Given the description of an element on the screen output the (x, y) to click on. 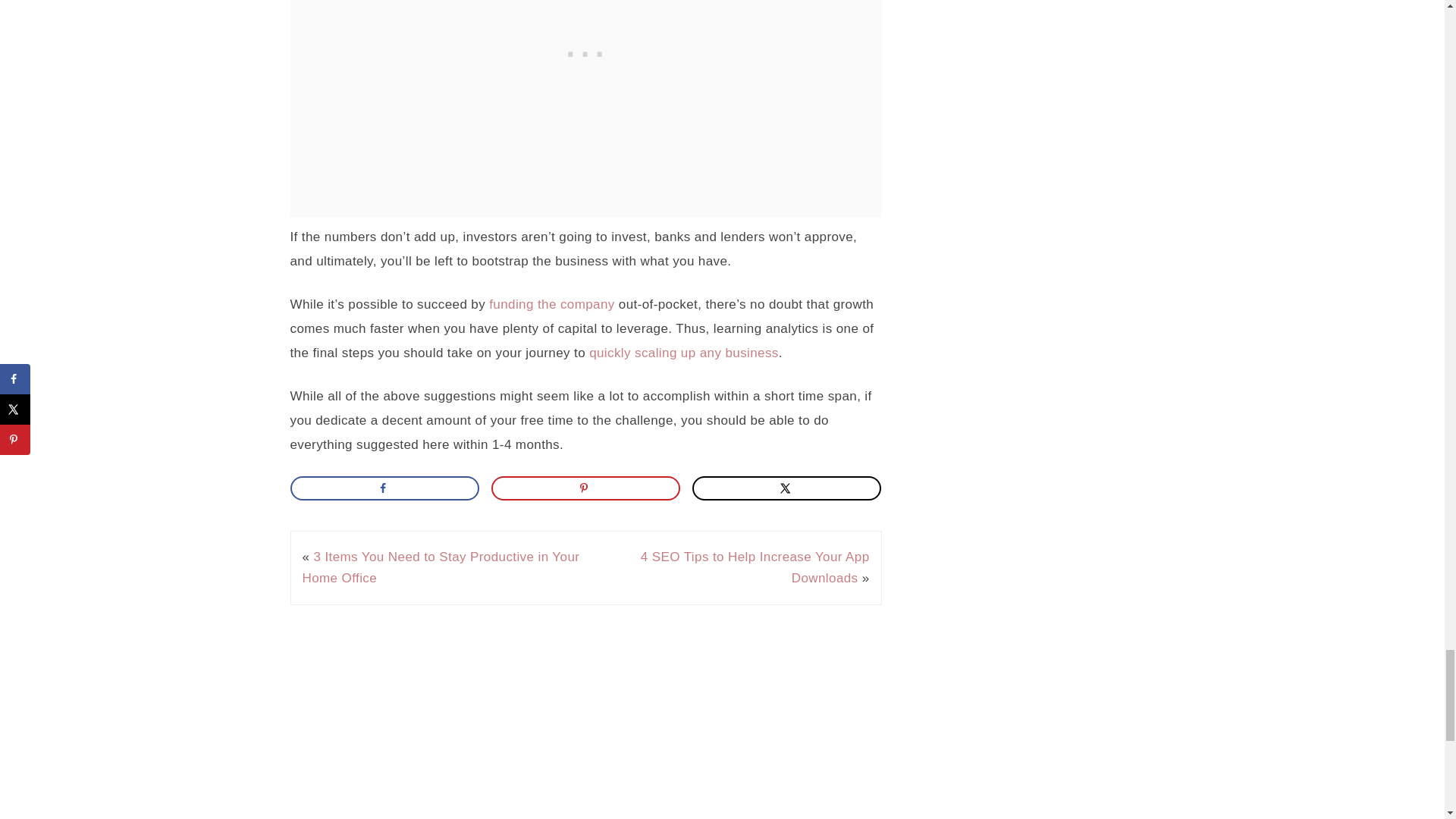
Share on Facebook (384, 487)
funding the company (551, 304)
Save to Pinterest (586, 487)
quickly scaling up any business (683, 352)
Share on X (787, 487)
